Given the description of an element on the screen output the (x, y) to click on. 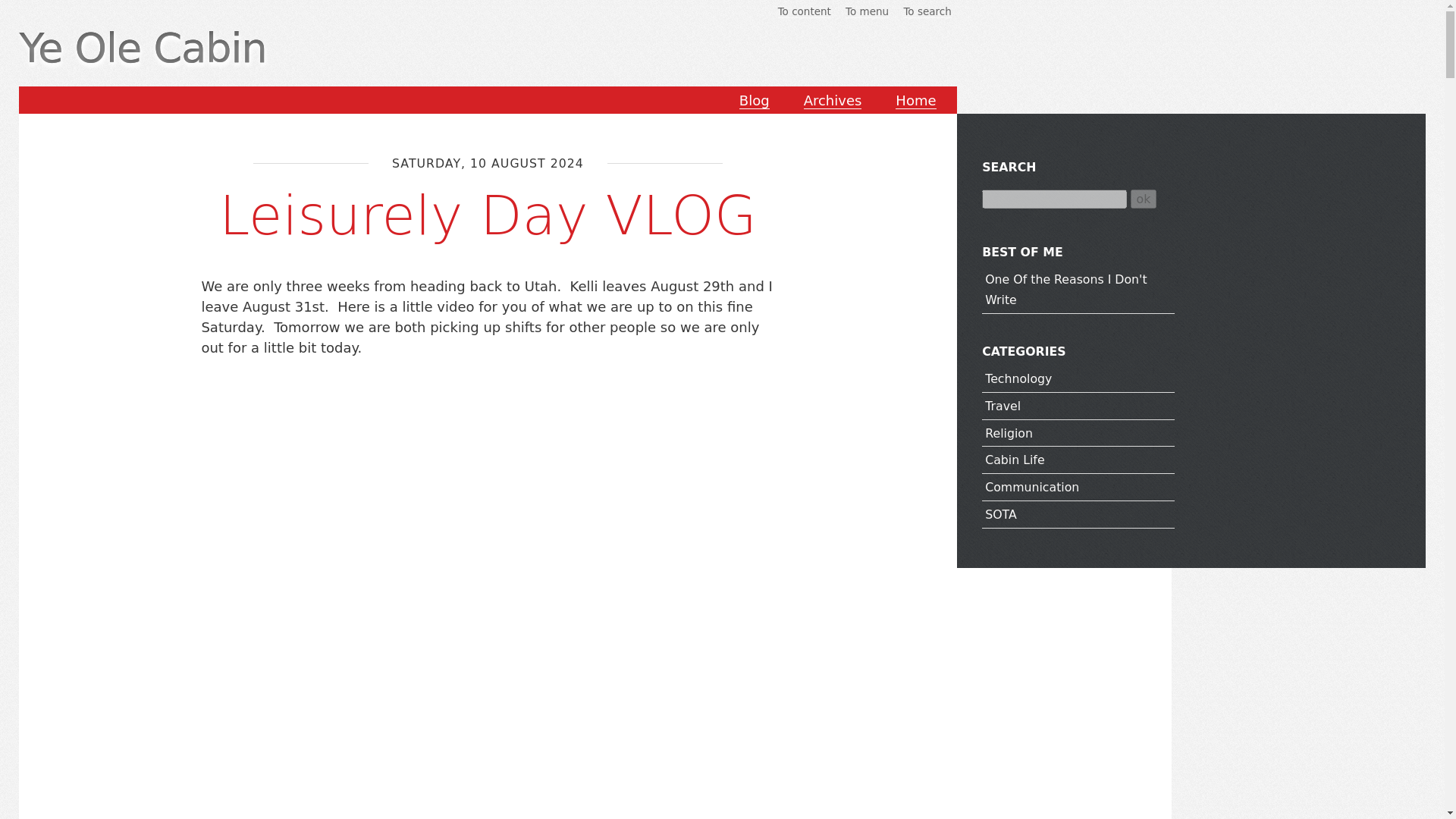
Leisurely Day VLOG (487, 215)
To search (926, 11)
To menu (866, 11)
ok (1144, 198)
Home (915, 100)
Ye Ole Cabin (142, 48)
To content (804, 11)
Blog (754, 100)
Archives (832, 100)
